Given the description of an element on the screen output the (x, y) to click on. 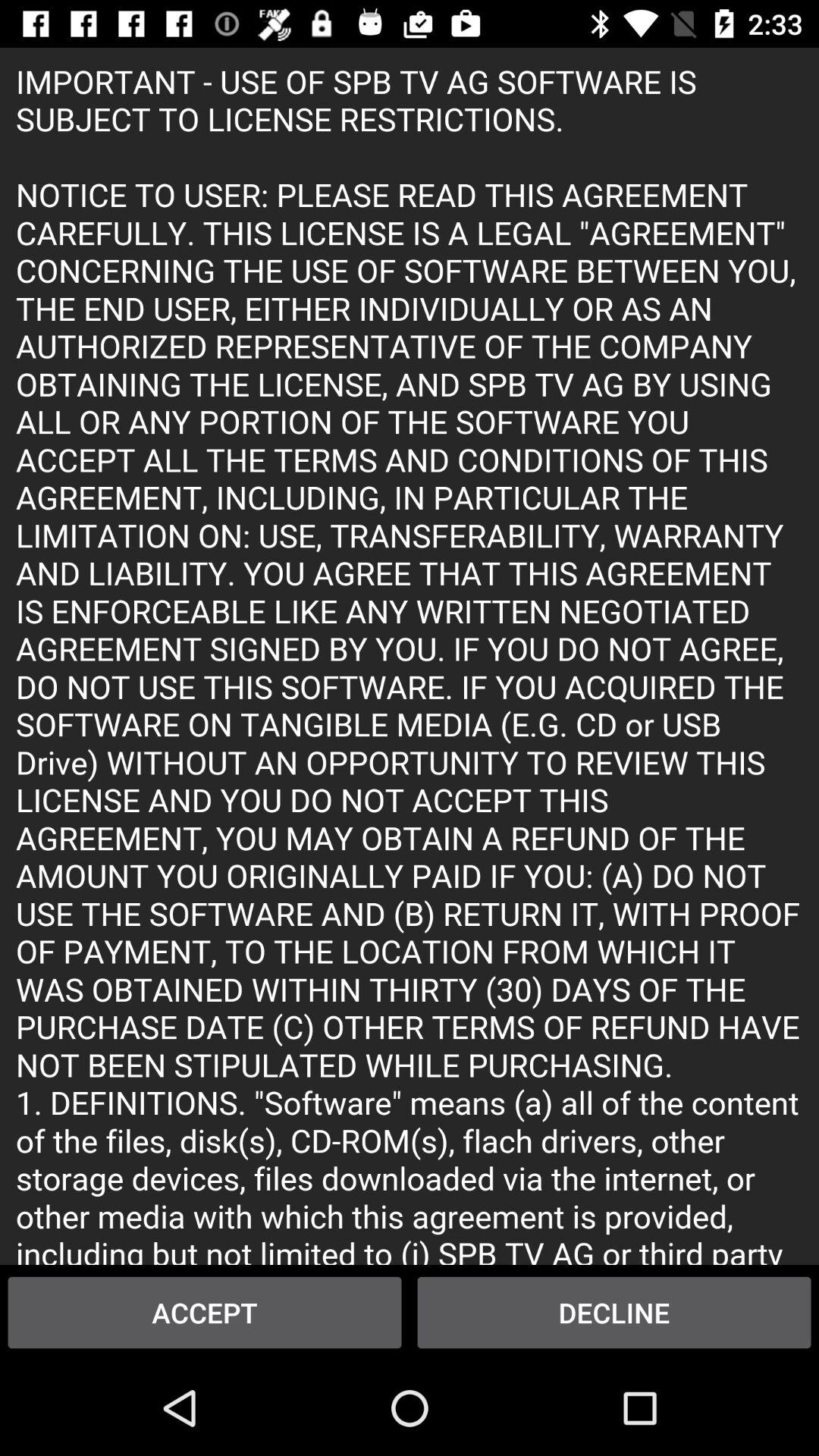
scroll until decline (614, 1312)
